Given the description of an element on the screen output the (x, y) to click on. 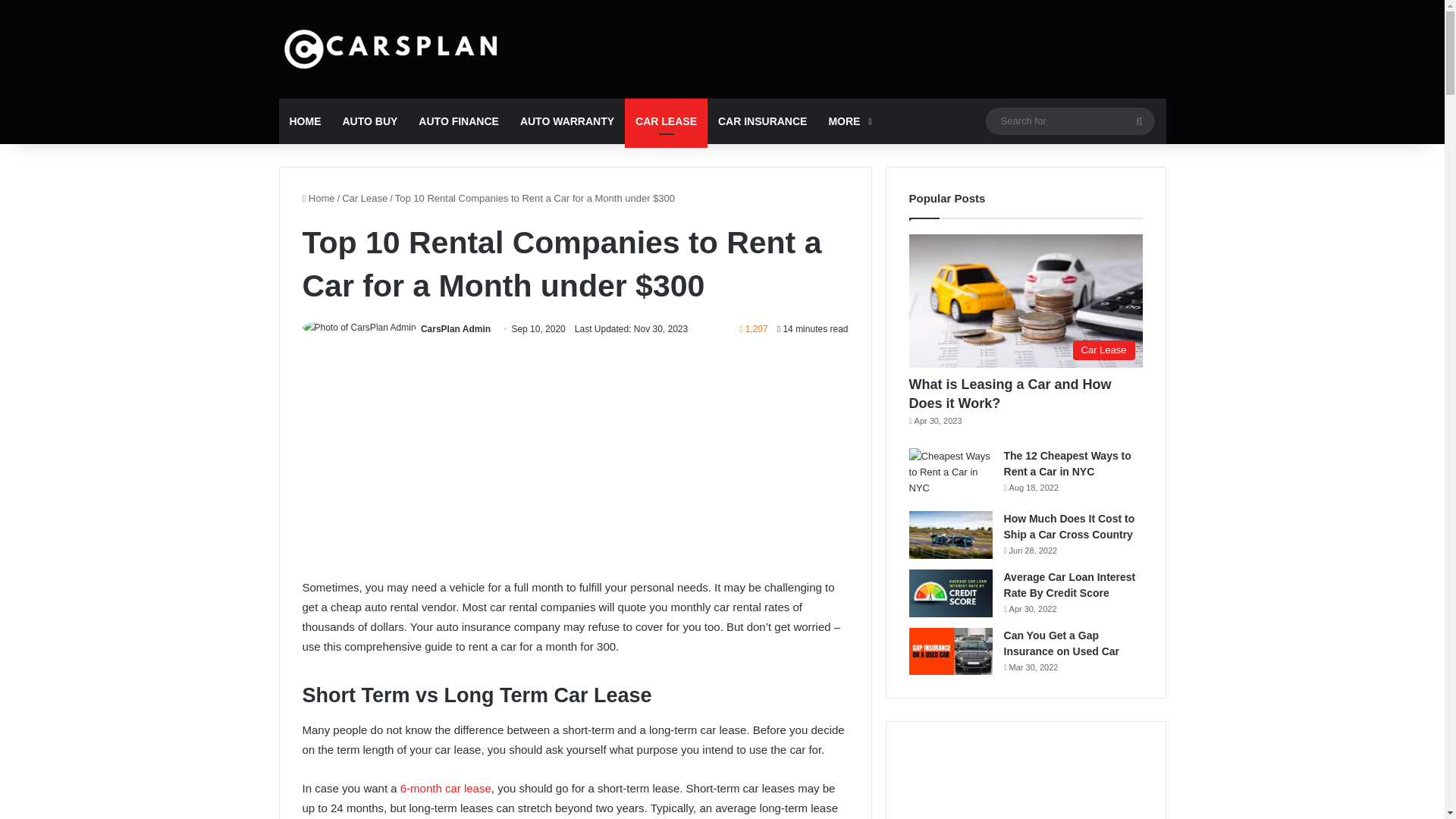
Search for (1139, 121)
Advertisement (574, 465)
Home (317, 197)
CarsPlan Admin (455, 328)
AUTO FINANCE (458, 121)
CAR LEASE (665, 121)
6-month car lease (446, 788)
CarsPlan Admin (455, 328)
HOME (305, 121)
MORE (847, 121)
Search for (1069, 120)
CarsPlan (392, 49)
Advertisement (574, 746)
Car Lease (364, 197)
AUTO WARRANTY (566, 121)
